Given the description of an element on the screen output the (x, y) to click on. 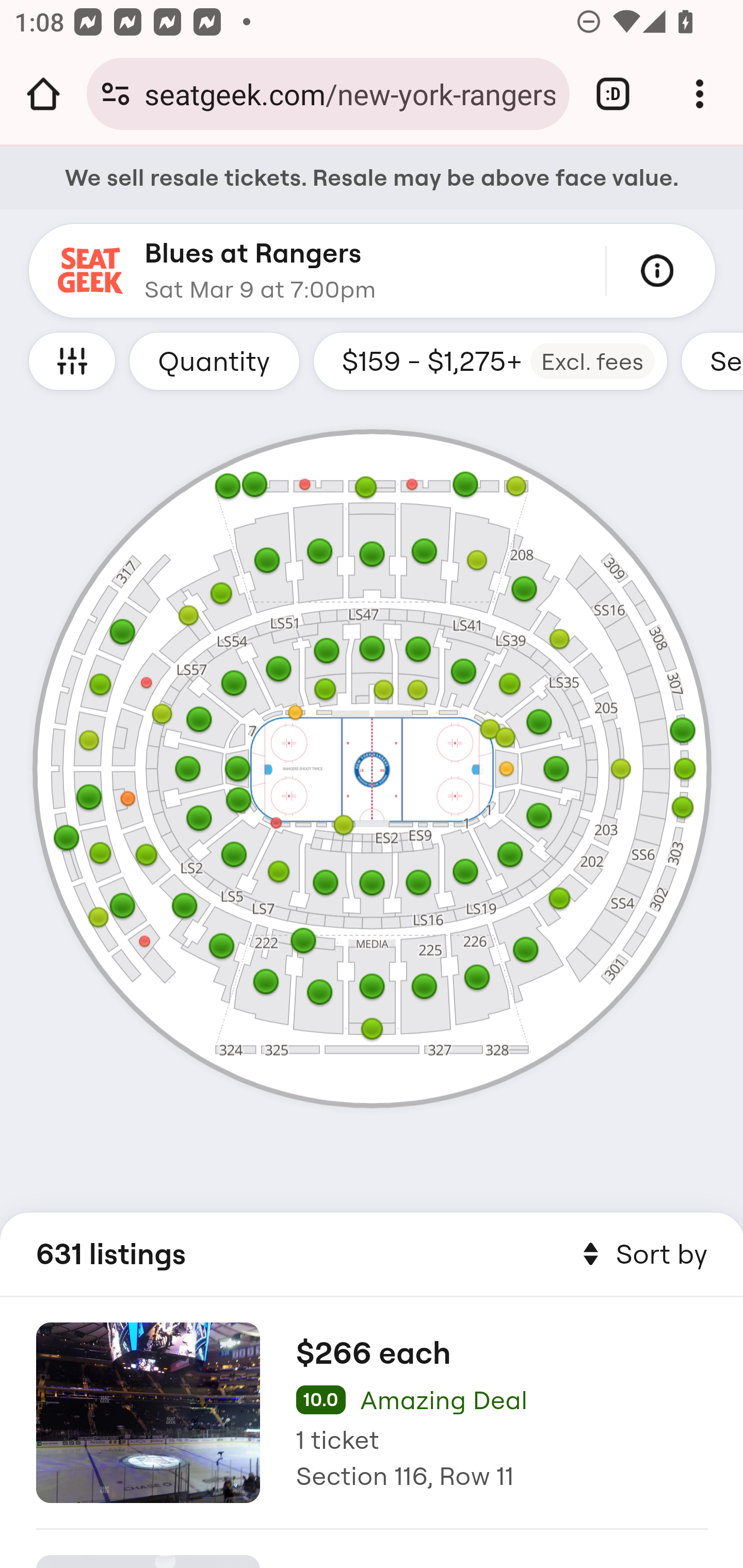
Open the home page (43, 93)
Connection is secure (115, 93)
Switch or close tabs (612, 93)
Customize and control Google Chrome (699, 93)
Homepage SeatGeek logo (90, 270)
See additional event details (657, 271)
All filters and accessible seating options (71, 361)
Quantity (213, 361)
